Given the description of an element on the screen output the (x, y) to click on. 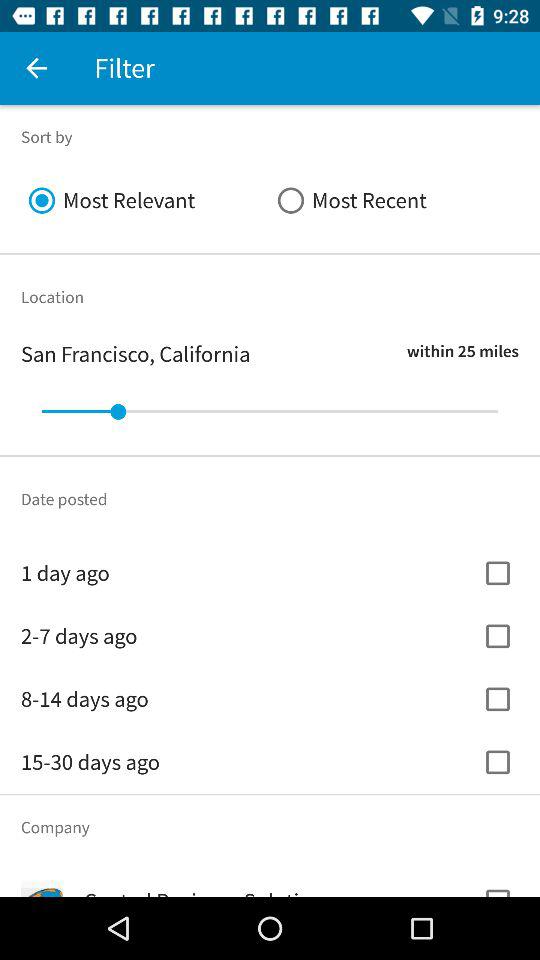
press the item to the left of most recent item (145, 200)
